Given the description of an element on the screen output the (x, y) to click on. 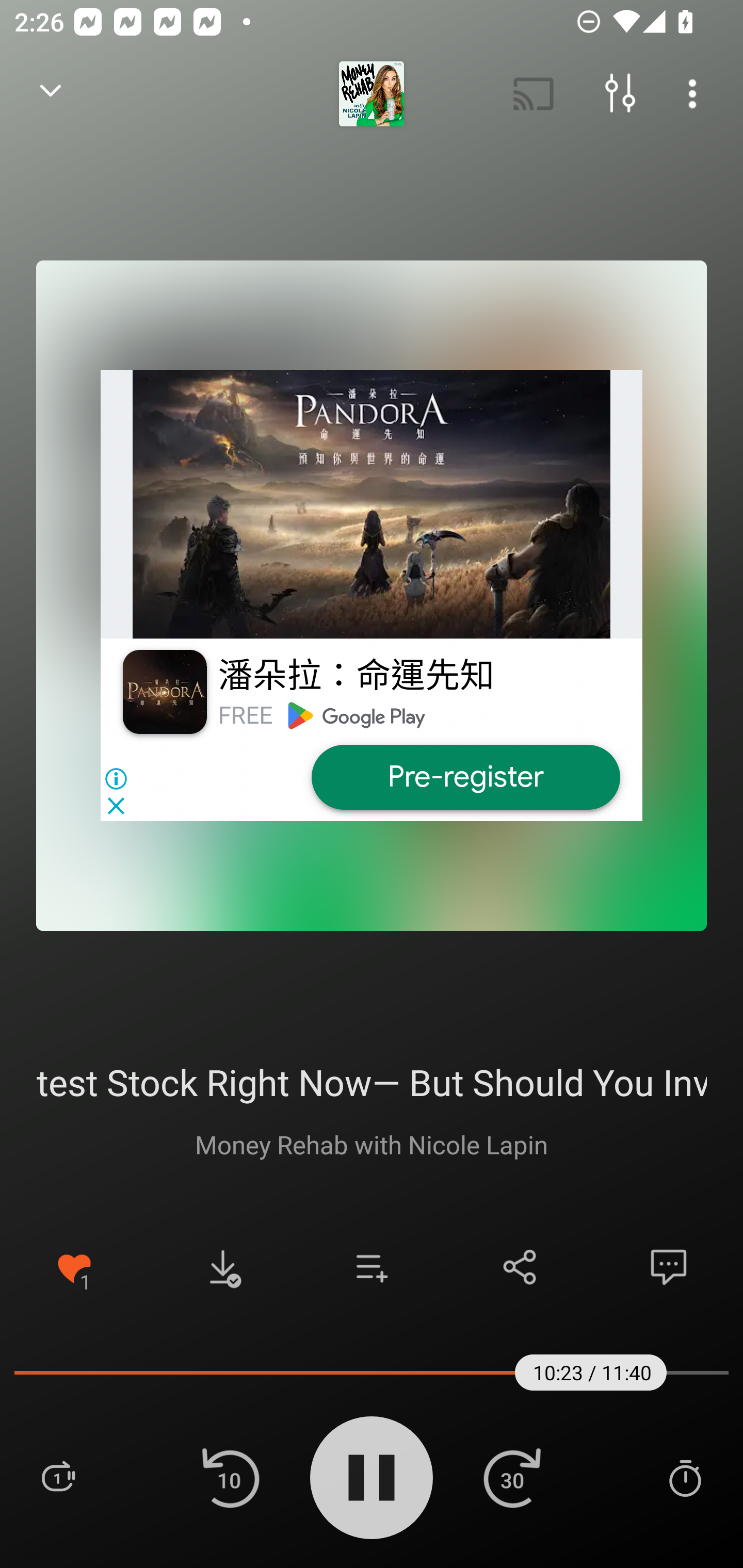
Cast. Disconnected (533, 93)
 Back (50, 94)
潘朵拉：命運先知 (355, 675)
FREE (245, 714)
Pre-register (464, 777)
Money Rehab with Nicole Lapin (371, 1144)
Comments (668, 1266)
Remove from Favorites (73, 1266)
Add to playlist (371, 1266)
Share (519, 1266)
 Playlist (57, 1477)
Sleep Timer  (684, 1477)
